Given the description of an element on the screen output the (x, y) to click on. 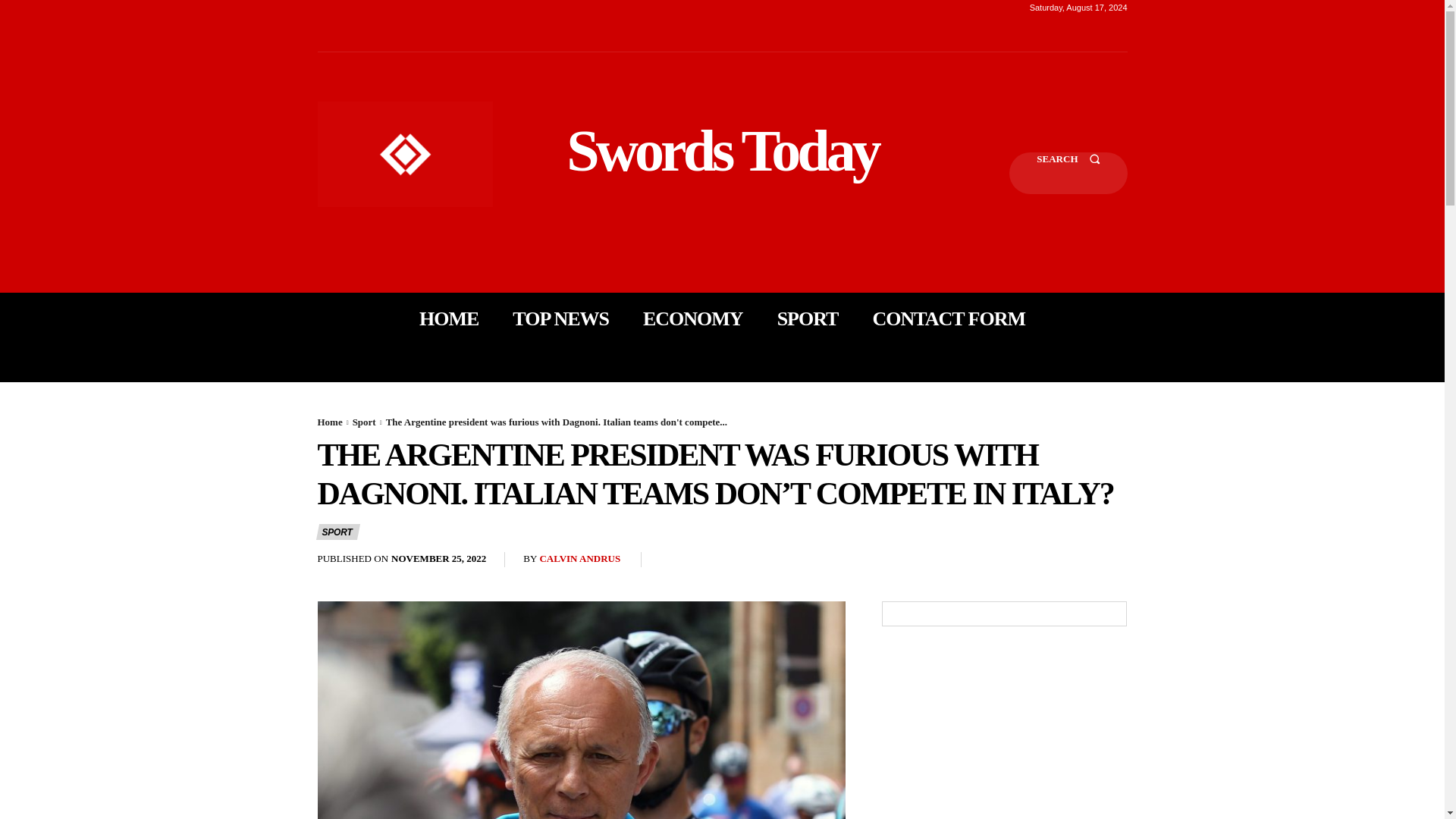
HOME (449, 318)
Swords Today (722, 149)
TOP NEWS (560, 318)
Search (1067, 173)
ECONOMY (692, 318)
CONTACT FORM (948, 318)
Home (329, 421)
SPORT (807, 318)
Sport (363, 421)
